Given the description of an element on the screen output the (x, y) to click on. 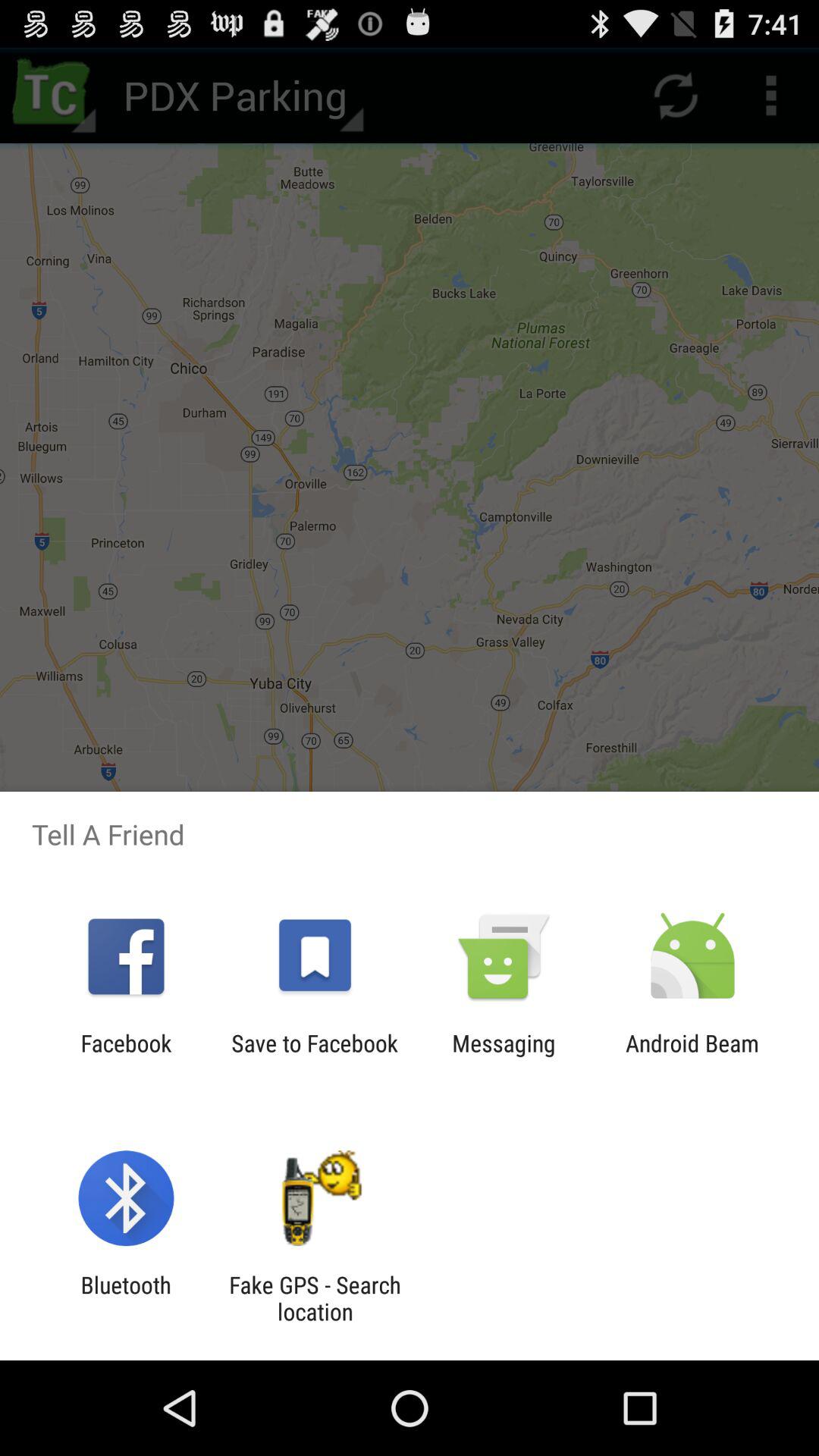
turn on fake gps search (314, 1298)
